Given the description of an element on the screen output the (x, y) to click on. 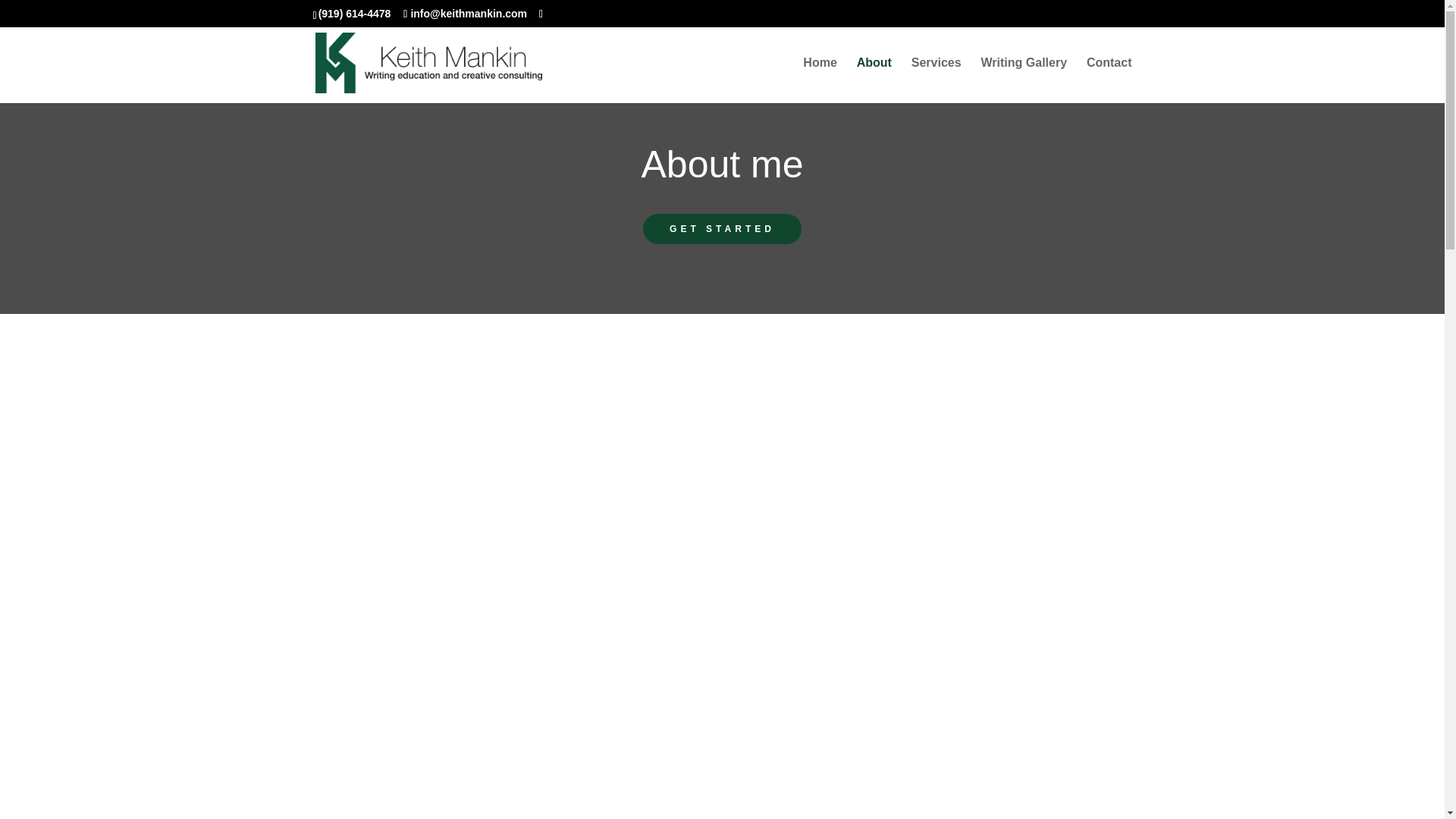
About (874, 80)
Home (819, 80)
Contact (1109, 80)
Writing Gallery (1024, 80)
GET STARTED (722, 228)
Services (935, 80)
